Given the description of an element on the screen output the (x, y) to click on. 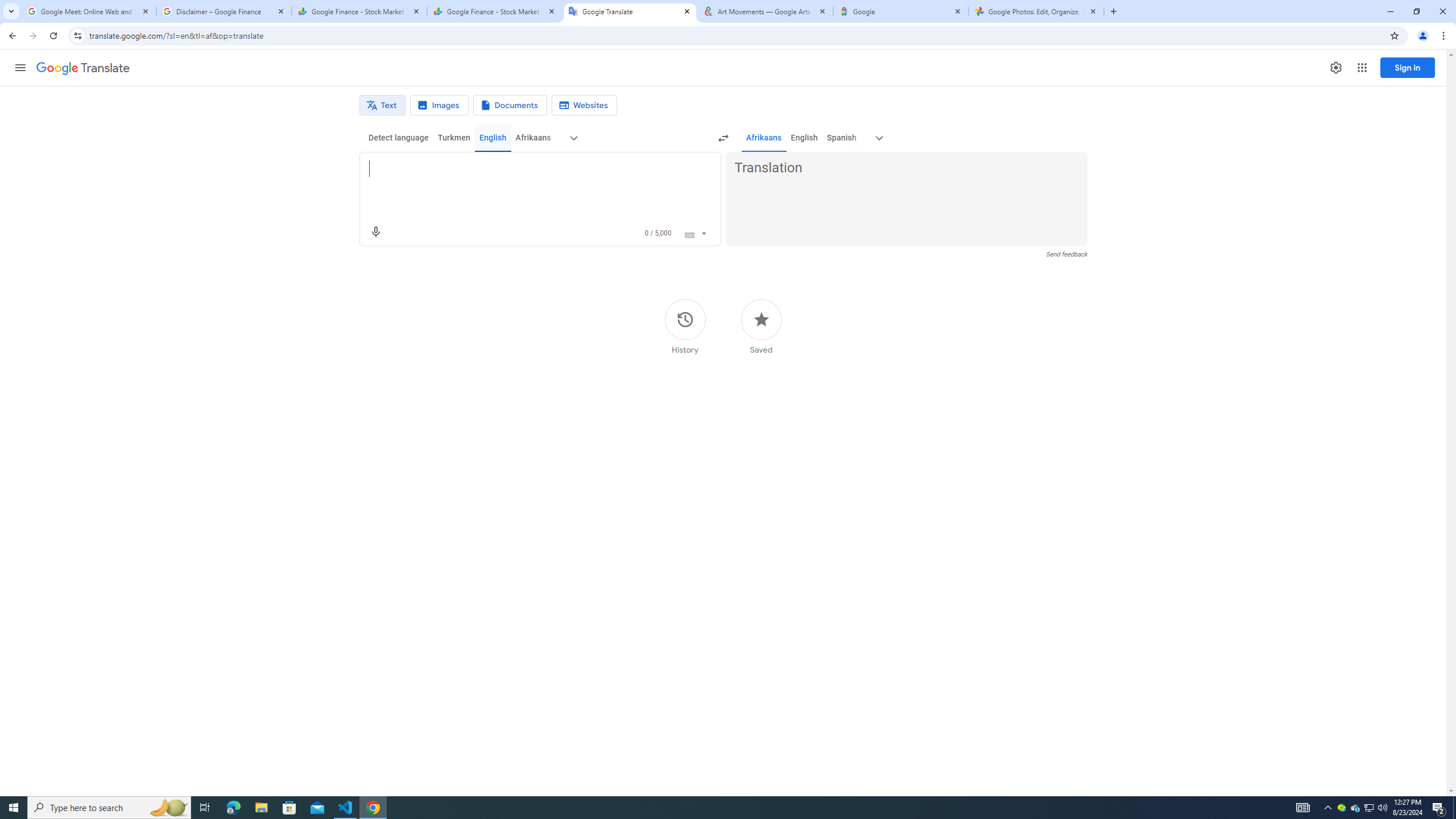
History (684, 326)
More target languages (879, 137)
Image translation (439, 105)
Turkmen (453, 137)
Google Translate (82, 68)
